Given the description of an element on the screen output the (x, y) to click on. 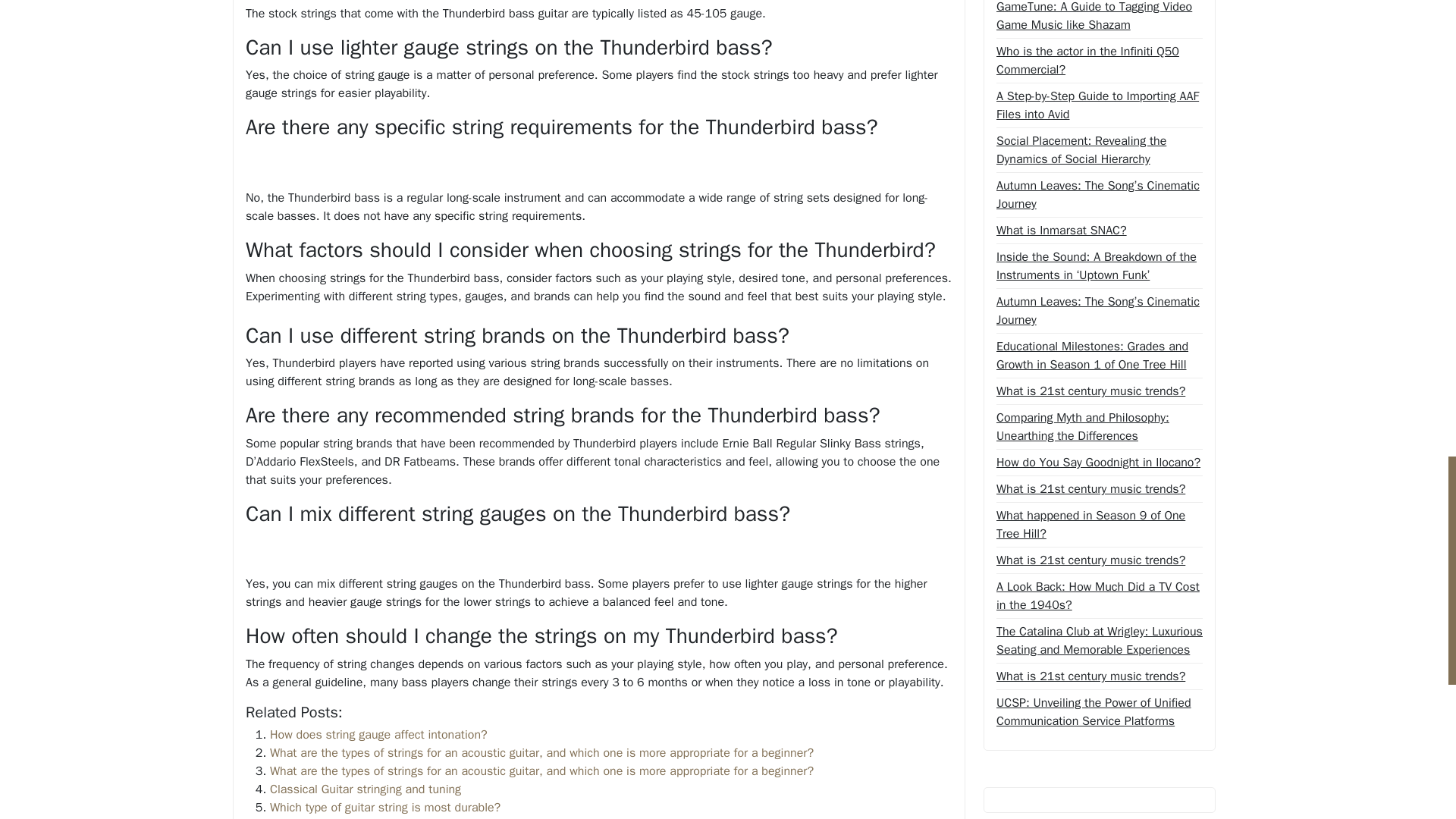
Squeaking of guitar strings (340, 817)
GameTune: A Guide to Tagging Video Game Music like Shazam (1098, 17)
Classical Guitar stringing and tuning (365, 789)
Which type of guitar string is most durable? (384, 807)
Squeaking of guitar strings (340, 817)
How does string gauge affect intonation? (378, 734)
How does string gauge affect intonation? (378, 734)
Which type of guitar string is most durable? (384, 807)
Social Placement: Revealing the Dynamics of Social Hierarchy (1098, 149)
Who is the actor in the Infiniti Q50 Commercial? (1098, 60)
A Step-by-Step Guide to Importing AAF Files into Avid (1098, 104)
